Given the description of an element on the screen output the (x, y) to click on. 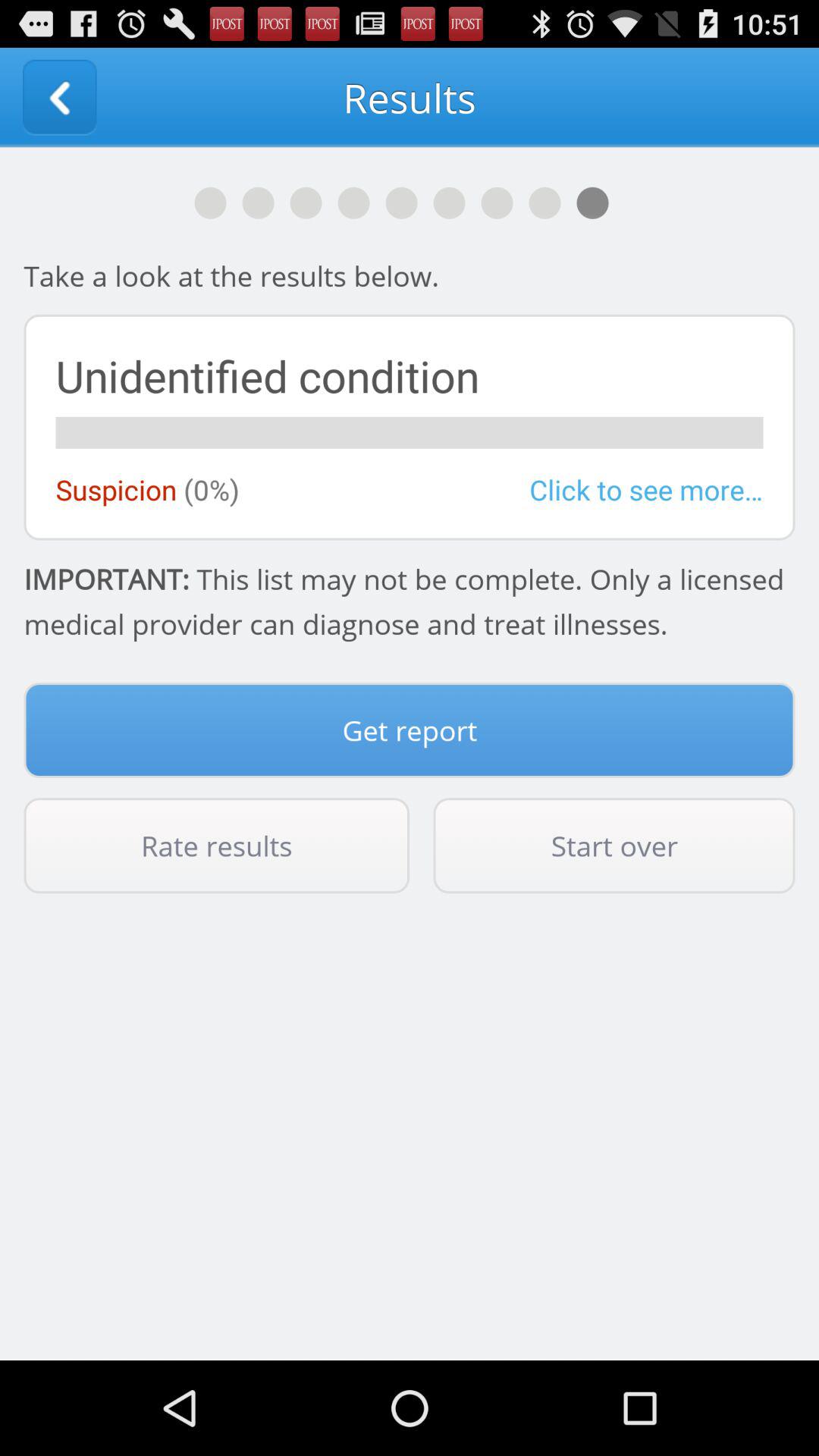
turn on the button below get report icon (216, 845)
